Given the description of an element on the screen output the (x, y) to click on. 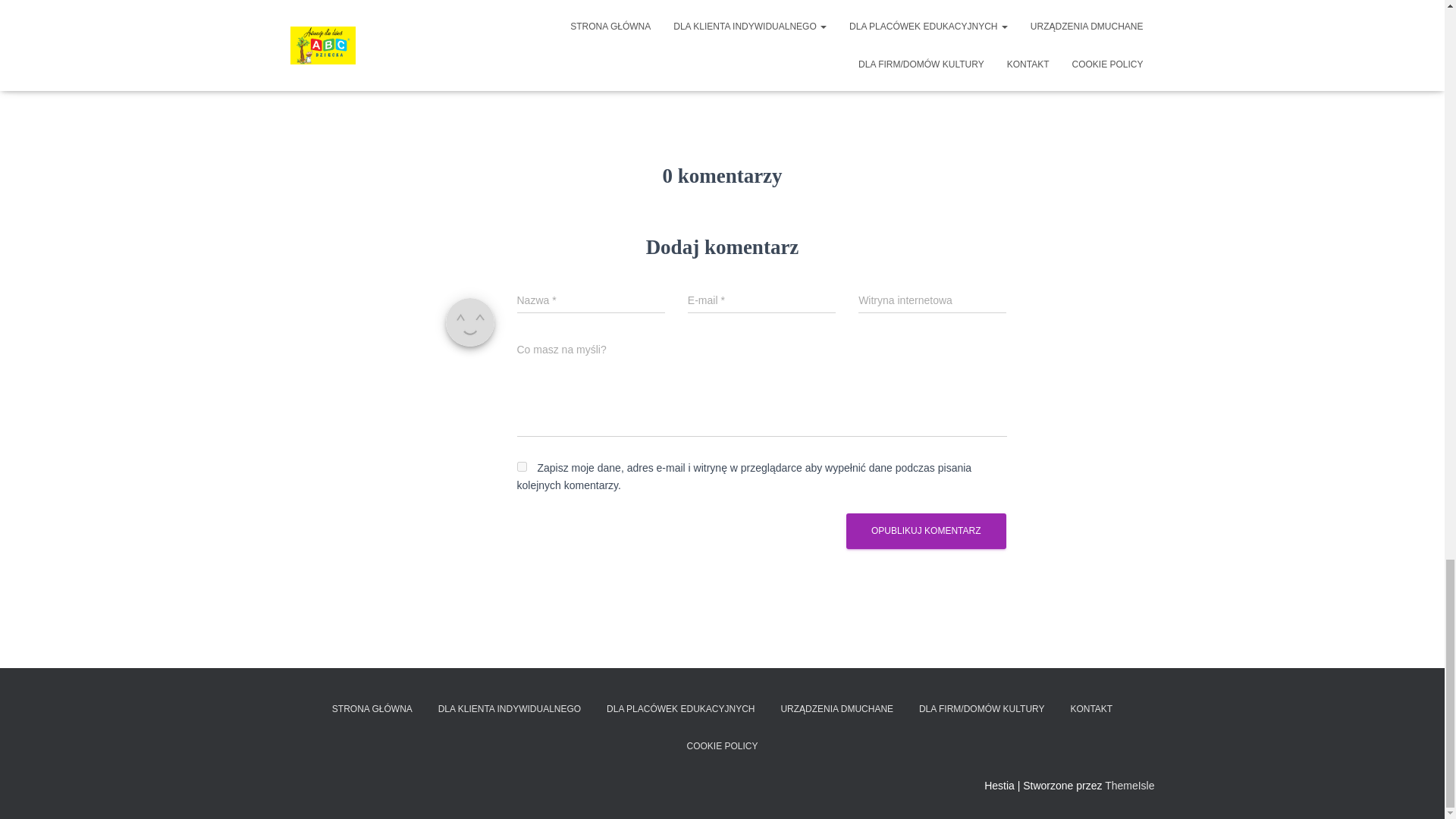
Opublikuj komentarz (925, 530)
CASINO BLOG (530, 24)
yes (521, 466)
COOKIE POLICY (721, 746)
ThemeIsle (1129, 784)
Opublikuj komentarz (925, 530)
KONTAKT (1091, 709)
DLA KLIENTA INDYWIDUALNEGO (509, 709)
